Given the description of an element on the screen output the (x, y) to click on. 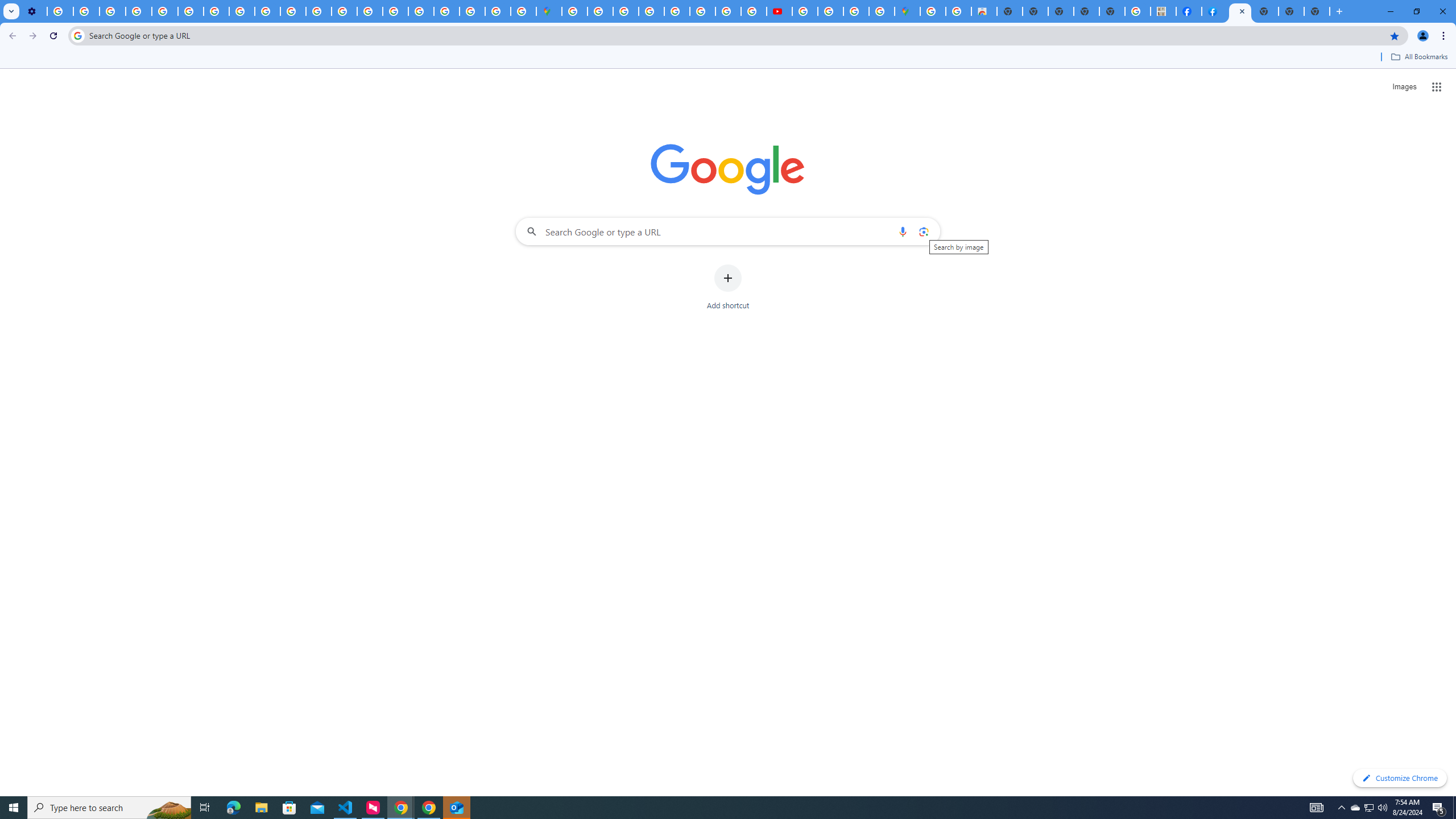
Google Maps (907, 11)
Chrome Web Store - Shopping (983, 11)
Sign in - Google Accounts (600, 11)
Delete photos & videos - Computer - Google Photos Help (60, 11)
Privacy Help Center - Policies Help (727, 11)
